Given the description of an element on the screen output the (x, y) to click on. 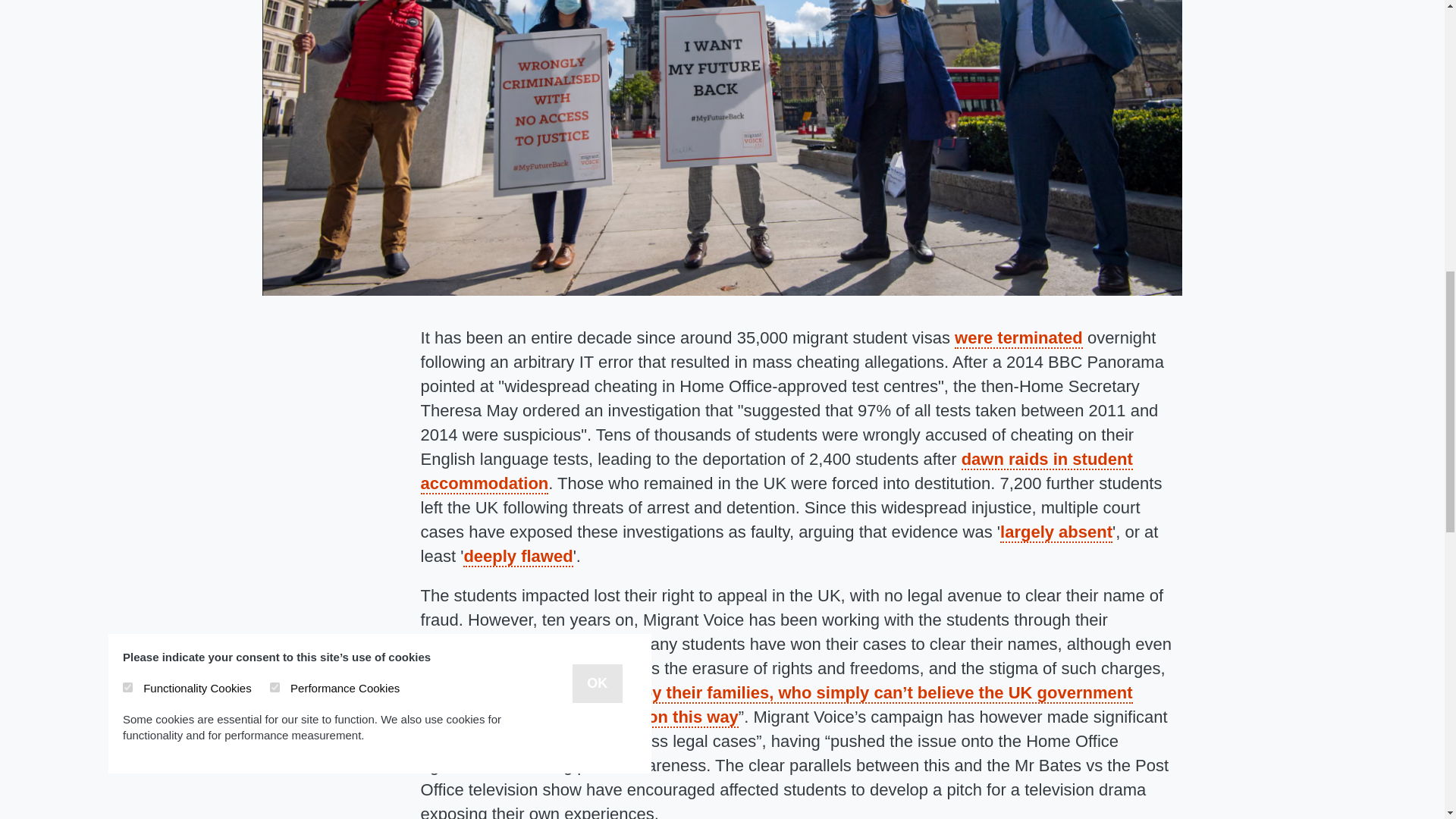
deeply flawed (517, 557)
largely absent (1056, 532)
dawn raids in student accommodation (776, 471)
were terminated (1019, 338)
